Given the description of an element on the screen output the (x, y) to click on. 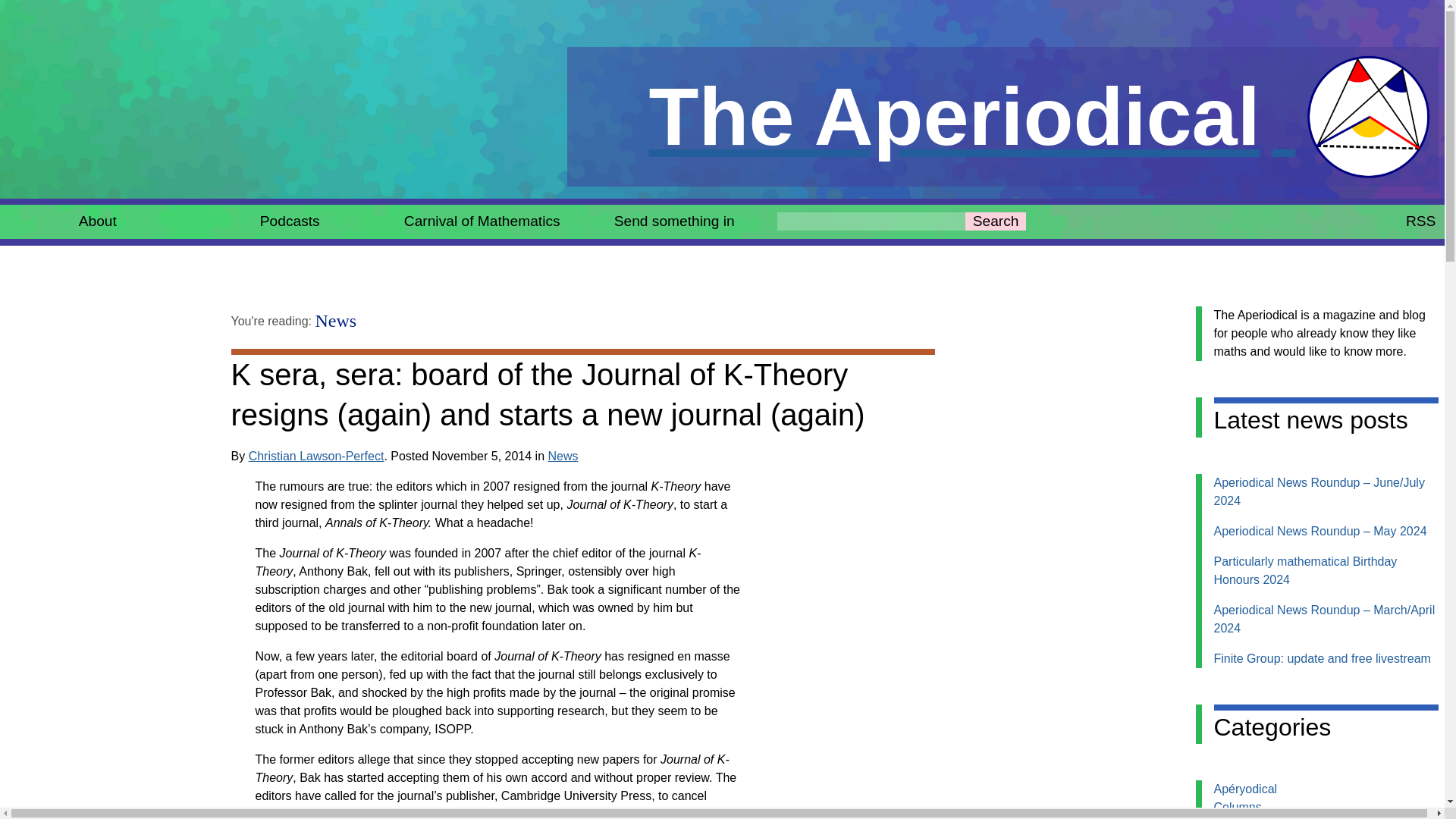
Search (995, 221)
About (1002, 116)
Finite Group: update and free livestream (97, 220)
News (1320, 658)
Podcasts (335, 320)
News (290, 220)
RSS (563, 455)
Columns (1420, 220)
Carnival of Mathematics (1236, 807)
